Given the description of an element on the screen output the (x, y) to click on. 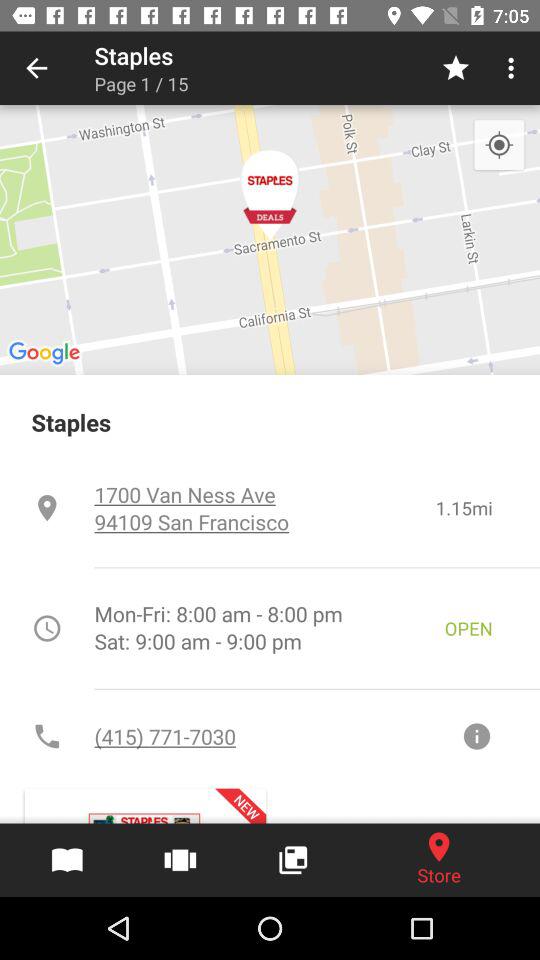
more info (476, 736)
